Given the description of an element on the screen output the (x, y) to click on. 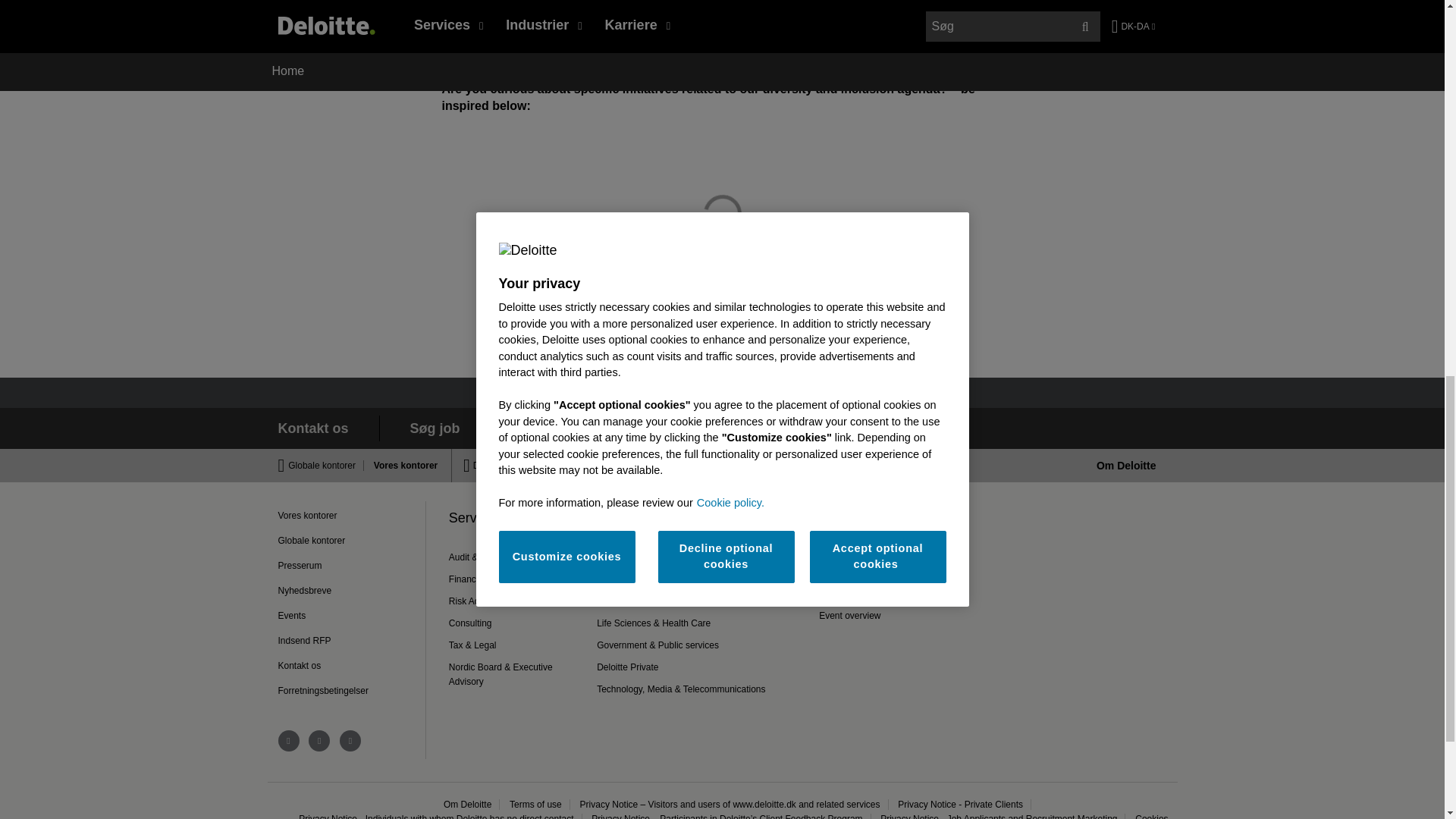
facebook (319, 740)
linkedin (288, 740)
Globale kontorer (326, 465)
twitter (350, 740)
Om Deloitte (1126, 465)
Vores kontorer (402, 465)
